Given the description of an element on the screen output the (x, y) to click on. 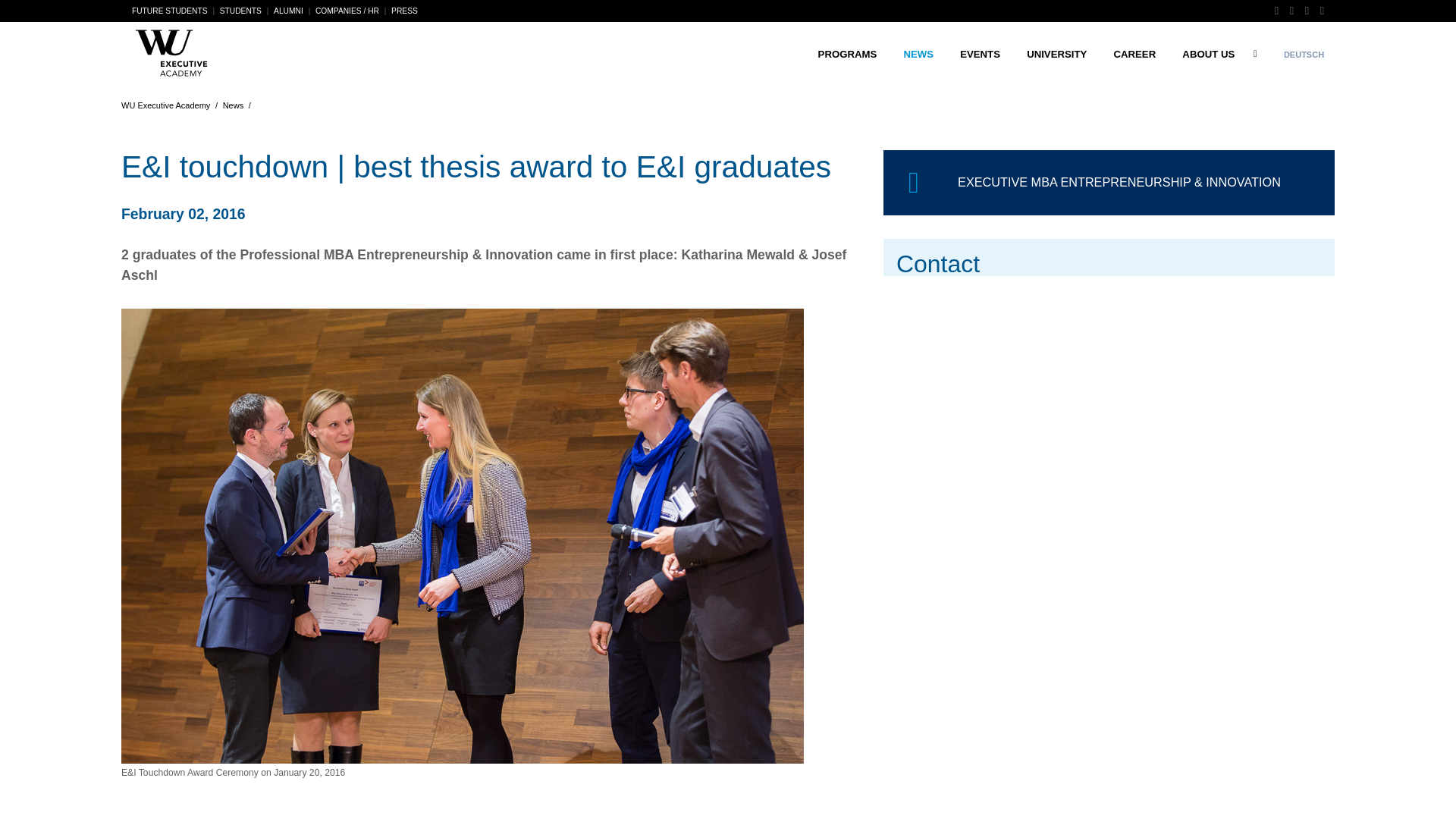
DEUTSCH (1303, 55)
Career (1133, 53)
PROGRAMS (846, 53)
Future Students (169, 11)
News (918, 53)
Press (404, 11)
PRESS (404, 11)
ABOUT US (1208, 53)
NEWS (918, 53)
CAREER (1133, 53)
